Given the description of an element on the screen output the (x, y) to click on. 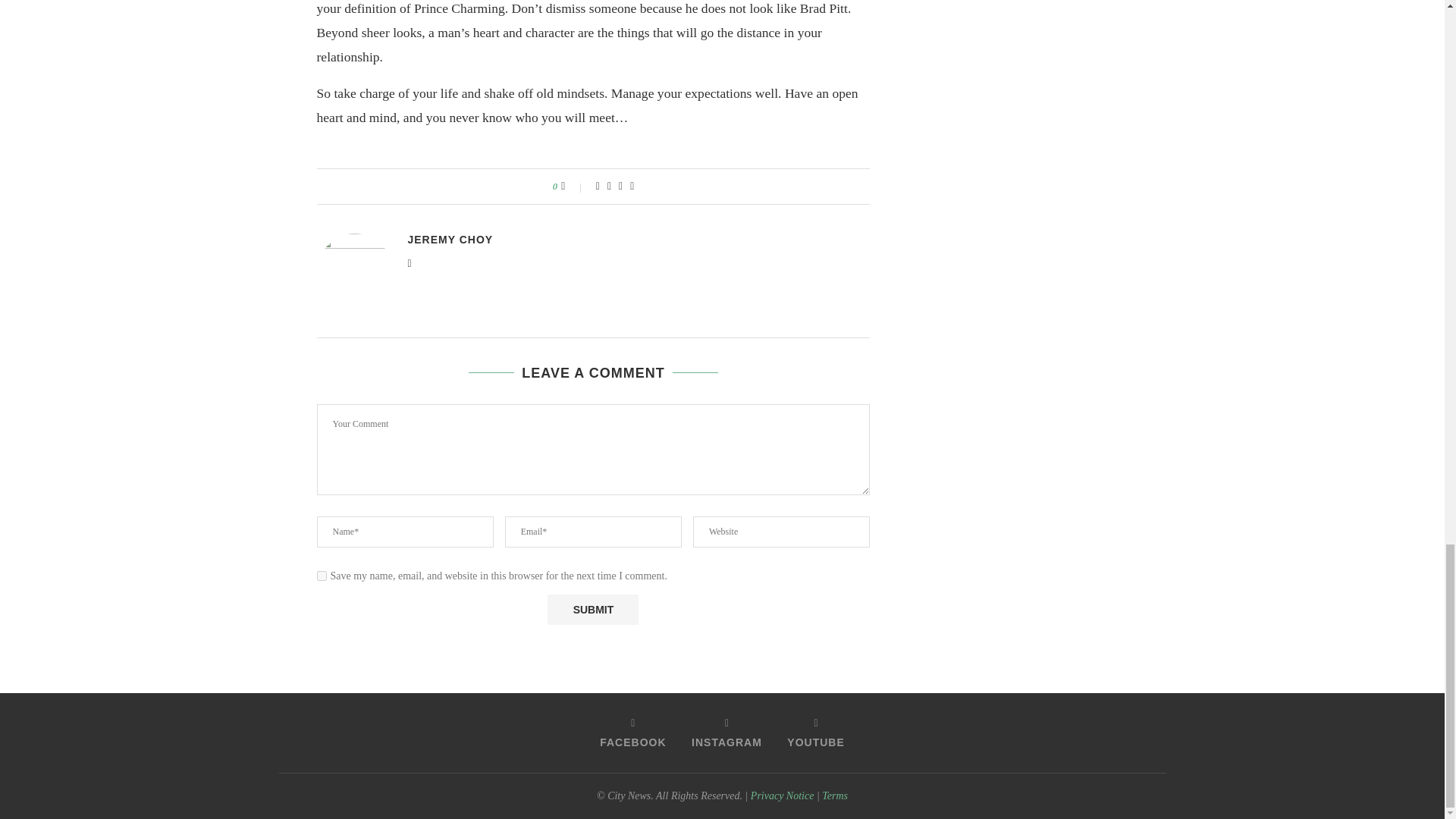
Posts by Jeremy Choy (450, 239)
yes (321, 575)
Submit (593, 609)
Like (572, 186)
